Given the description of an element on the screen output the (x, y) to click on. 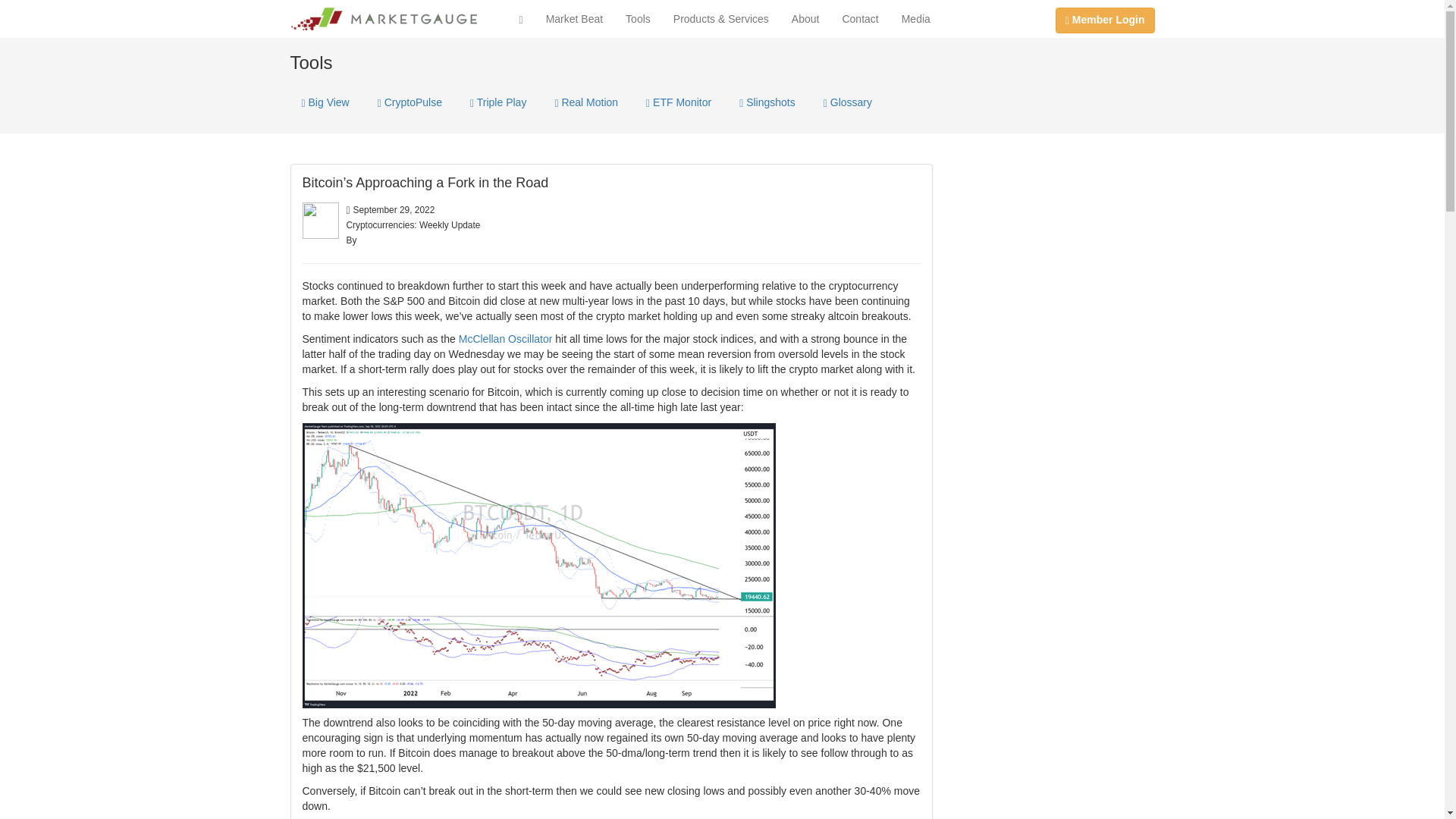
MarketGauge.com (383, 18)
Member Login (1104, 20)
Real Motion (585, 102)
Media (915, 18)
Triple Play (497, 102)
Contact (859, 18)
ETF Monitor (678, 102)
Market Beat (574, 18)
Big View (324, 102)
About (805, 18)
